Given the description of an element on the screen output the (x, y) to click on. 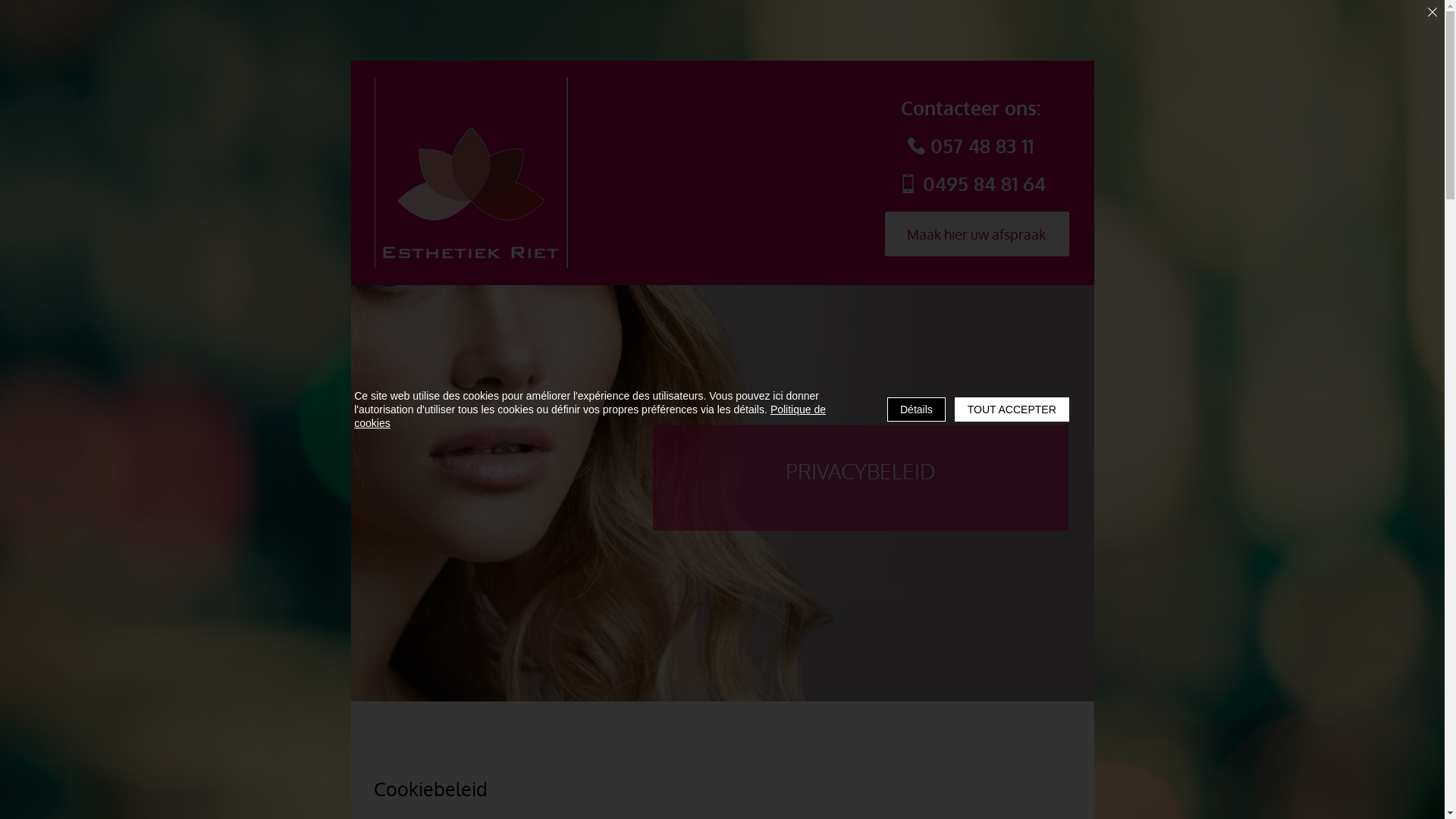
Maak hier uw afspraak Element type: text (976, 233)
0495 84 81 64 Element type: text (971, 183)
057 48 83 11 Element type: text (970, 145)
